Given the description of an element on the screen output the (x, y) to click on. 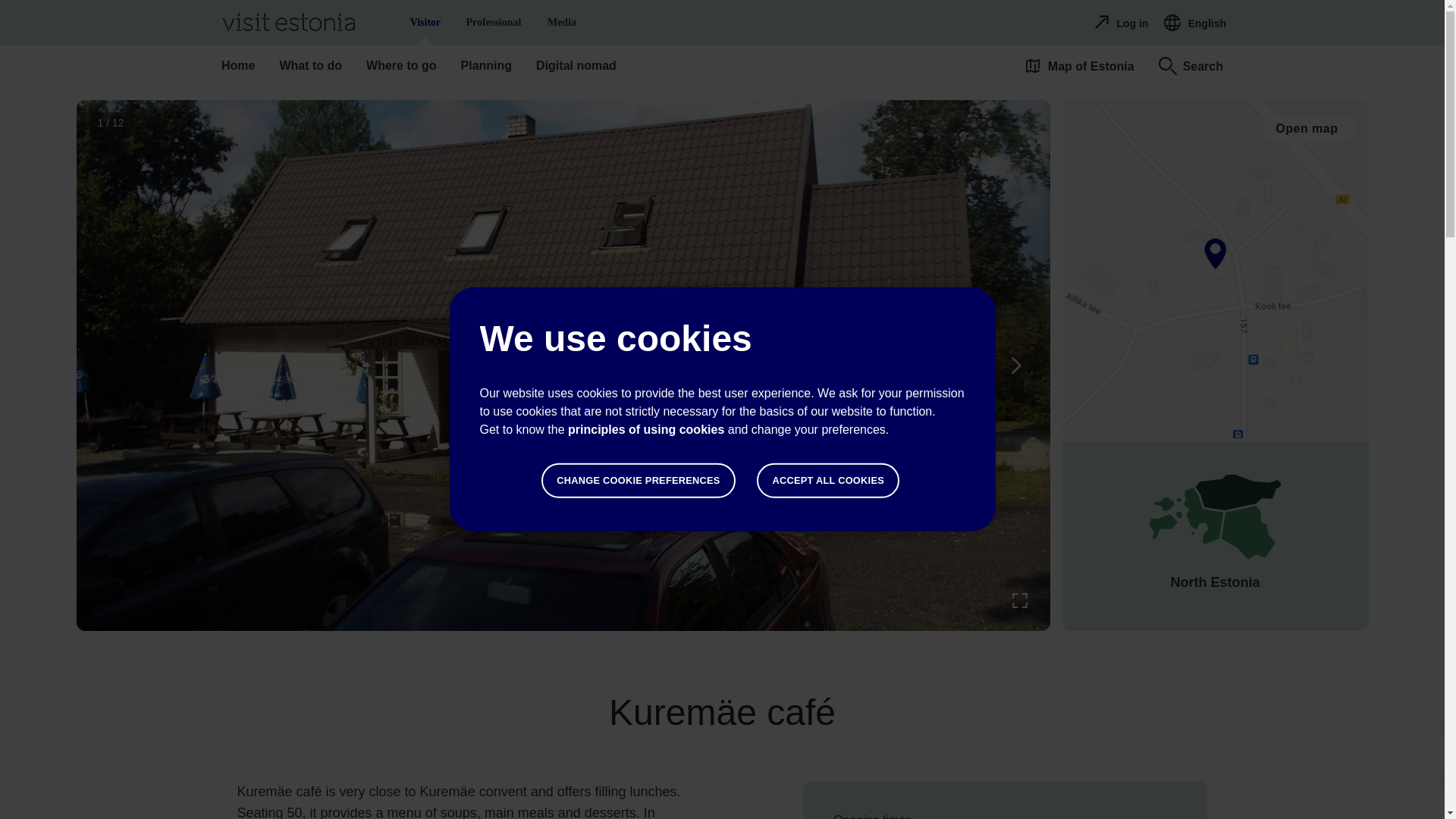
CHANGE COOKIE PREFERENCES (638, 480)
ACCEPT ALL COOKIES (493, 22)
principles of using cookies (828, 480)
